Given the description of an element on the screen output the (x, y) to click on. 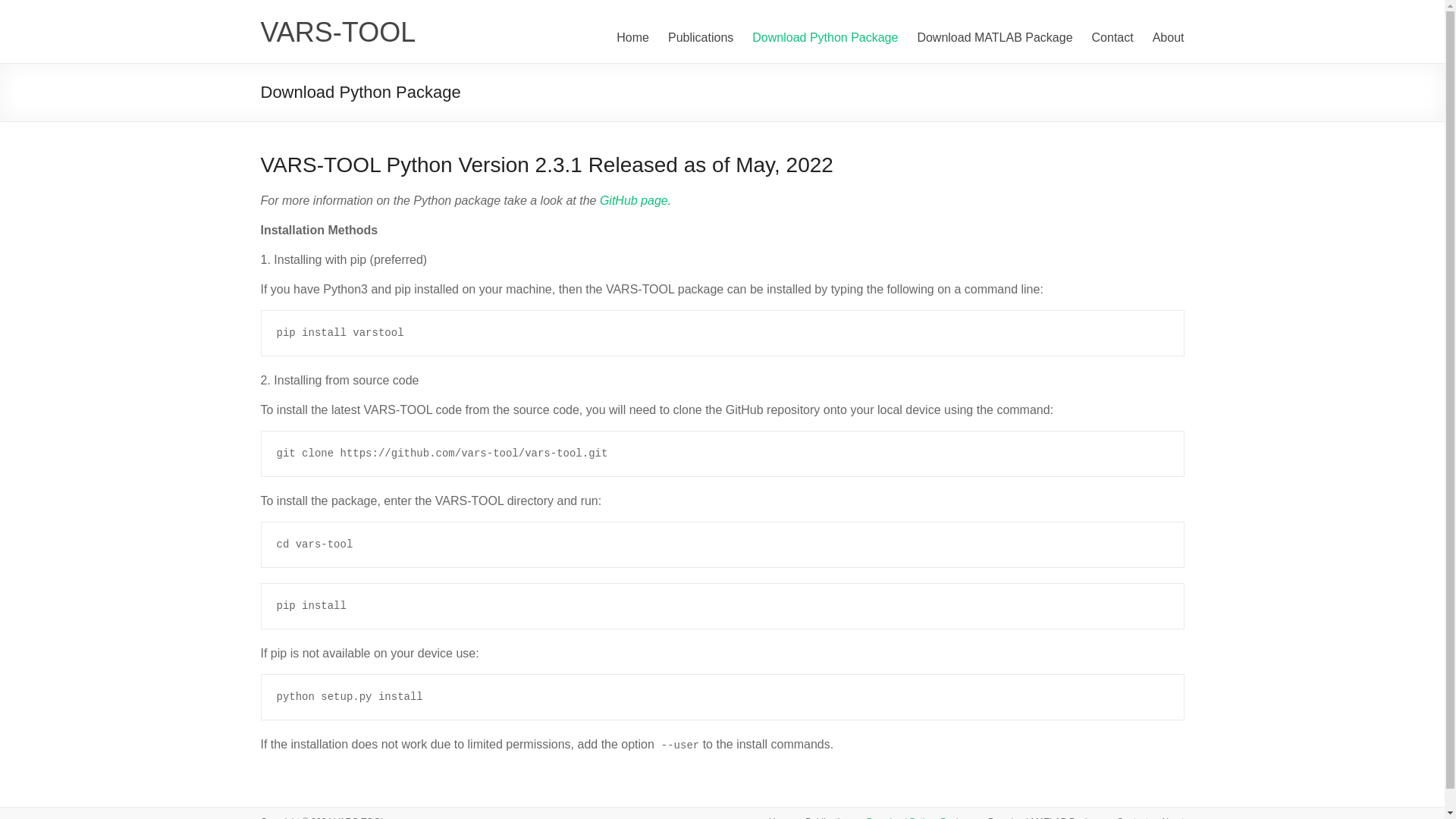
VARS-TOOL (338, 31)
Home (775, 816)
VARS-TOOL (360, 817)
VARS-TOOL (338, 31)
Download MATLAB Package (1040, 816)
About (1165, 816)
About (1169, 37)
Contact (1126, 816)
Download Python Package (914, 816)
VARS-TOOL. (360, 817)
